Given the description of an element on the screen output the (x, y) to click on. 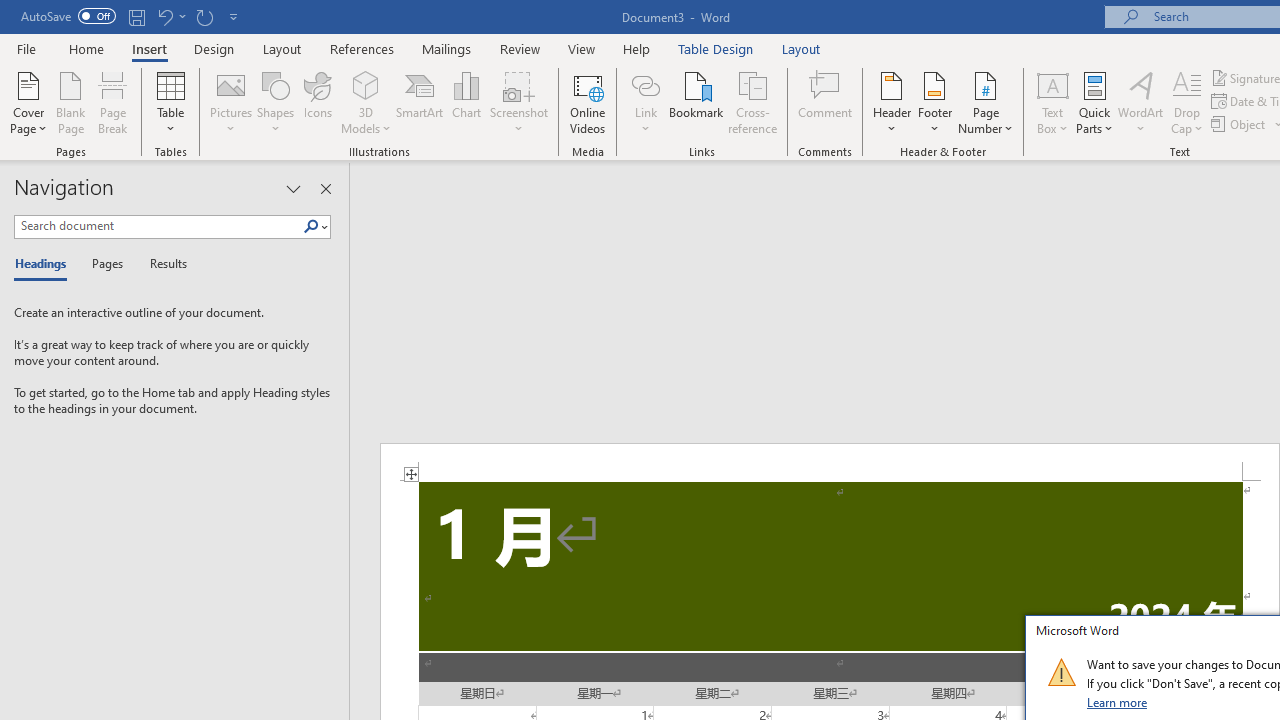
Task Pane Options (293, 188)
Text Box (1052, 102)
Table Design (715, 48)
Insert (149, 48)
Page Break (113, 102)
Search document (157, 226)
Drop Cap (1187, 102)
Review (520, 48)
Online Videos... (588, 102)
Learn more (1118, 702)
Help (637, 48)
WordArt (1141, 102)
Results (161, 264)
Bookmark... (695, 102)
